Given the description of an element on the screen output the (x, y) to click on. 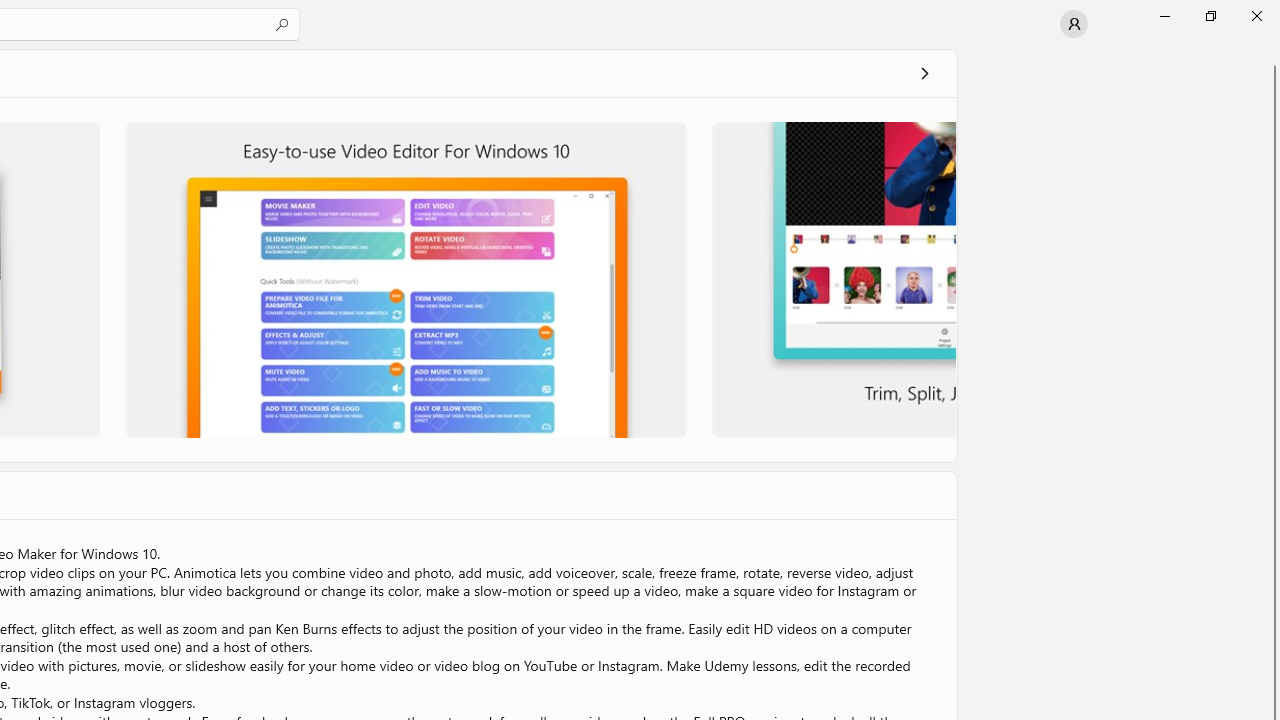
See all (924, 72)
Animotica is an easy-to-use video editor for Windows 10 (406, 279)
Vertical Small Decrease (1272, 55)
Trim, Split, Join Video and Photo in Animotica (832, 279)
